Given the description of an element on the screen output the (x, y) to click on. 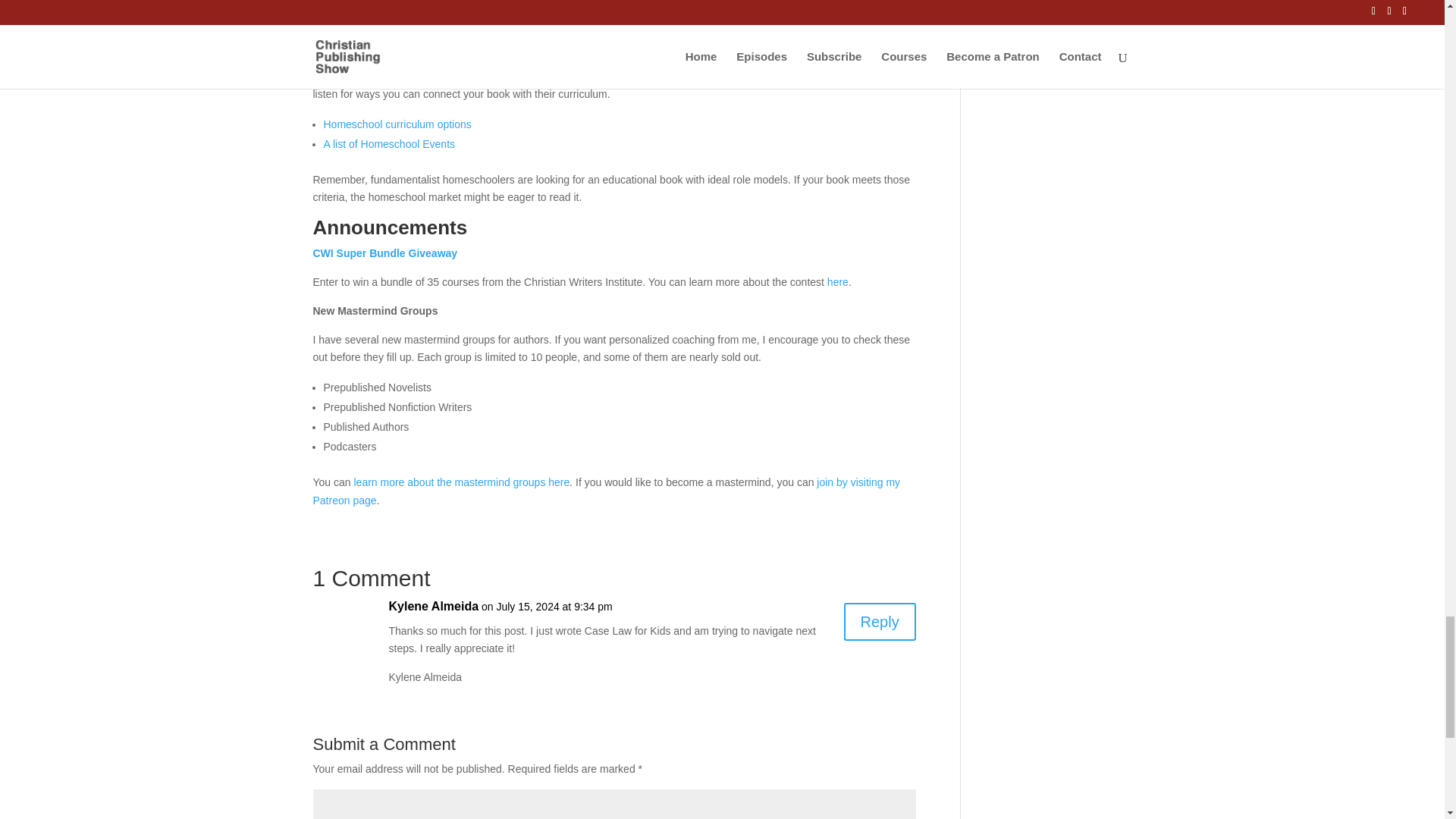
A list of Homeschool Events (388, 143)
Reply (879, 621)
CWI Super Bundle Giveaway (385, 253)
Kylene Almeida (433, 606)
join by visiting my Patreon page (606, 490)
Homeschool curriculum options (396, 123)
learn more about the mastermind groups here (461, 481)
here (837, 282)
